Given the description of an element on the screen output the (x, y) to click on. 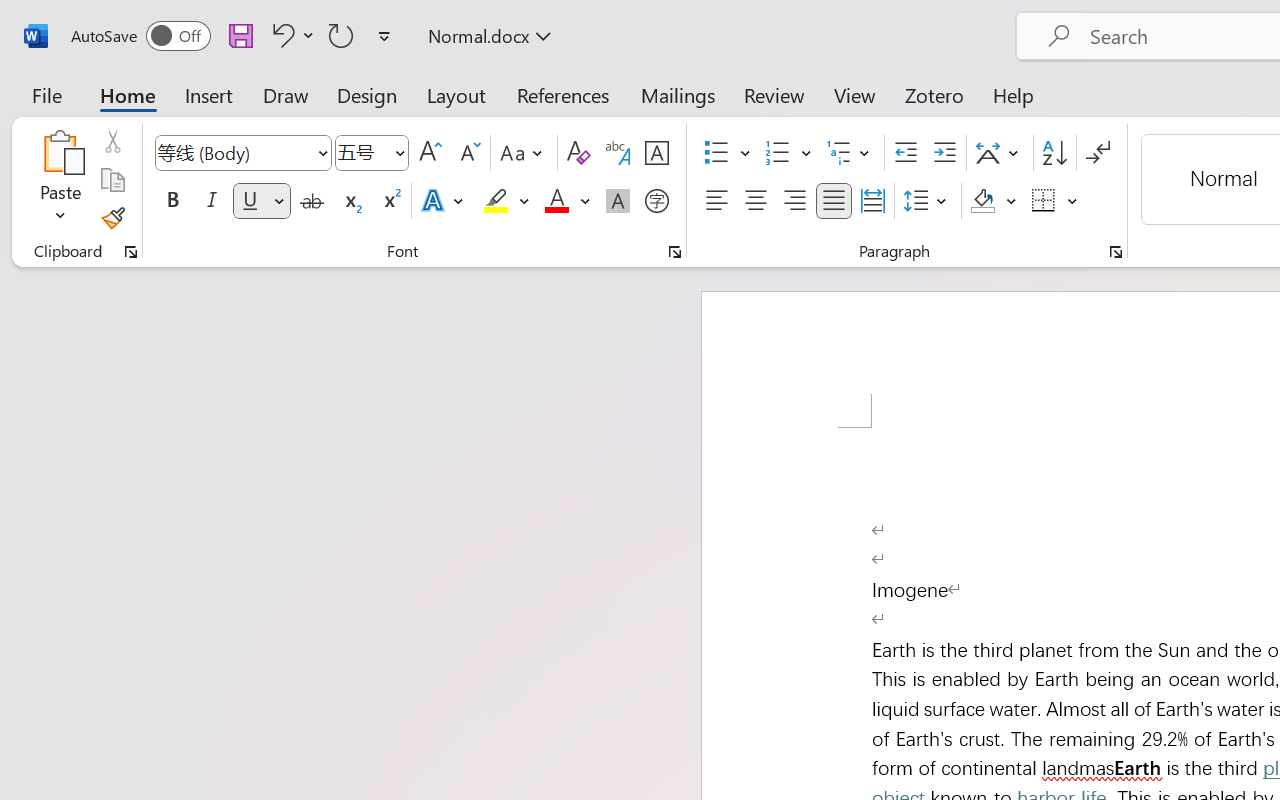
Shrink Font (468, 153)
Character Shading (618, 201)
Repeat Paste Option (341, 35)
Bold (172, 201)
Line and Paragraph Spacing (927, 201)
Change Case (524, 153)
Font Color Red (556, 201)
Help (1013, 94)
